Given the description of an element on the screen output the (x, y) to click on. 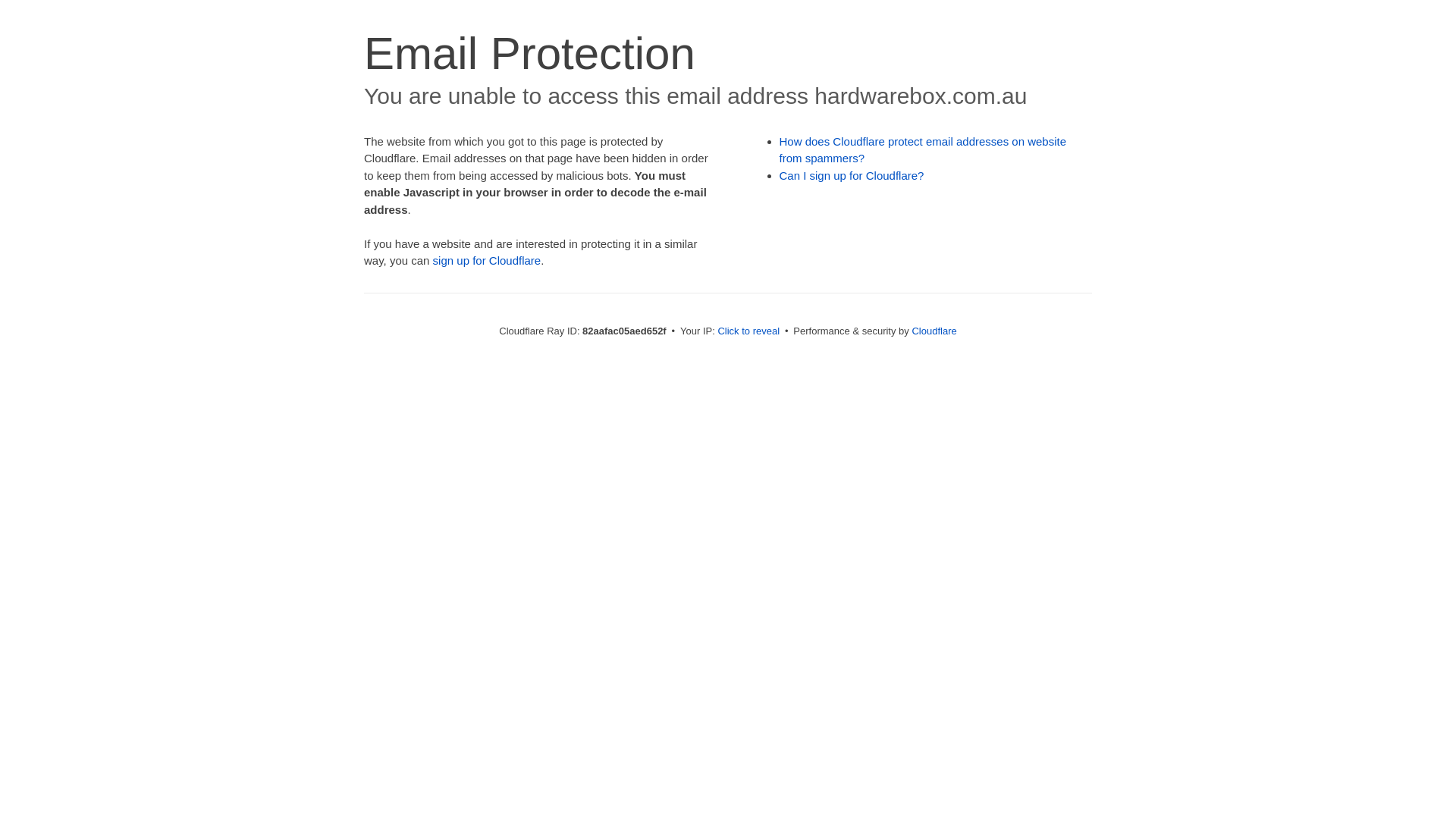
Click to reveal Element type: text (748, 330)
Cloudflare Element type: text (933, 330)
Can I sign up for Cloudflare? Element type: text (851, 175)
sign up for Cloudflare Element type: text (487, 260)
